Given the description of an element on the screen output the (x, y) to click on. 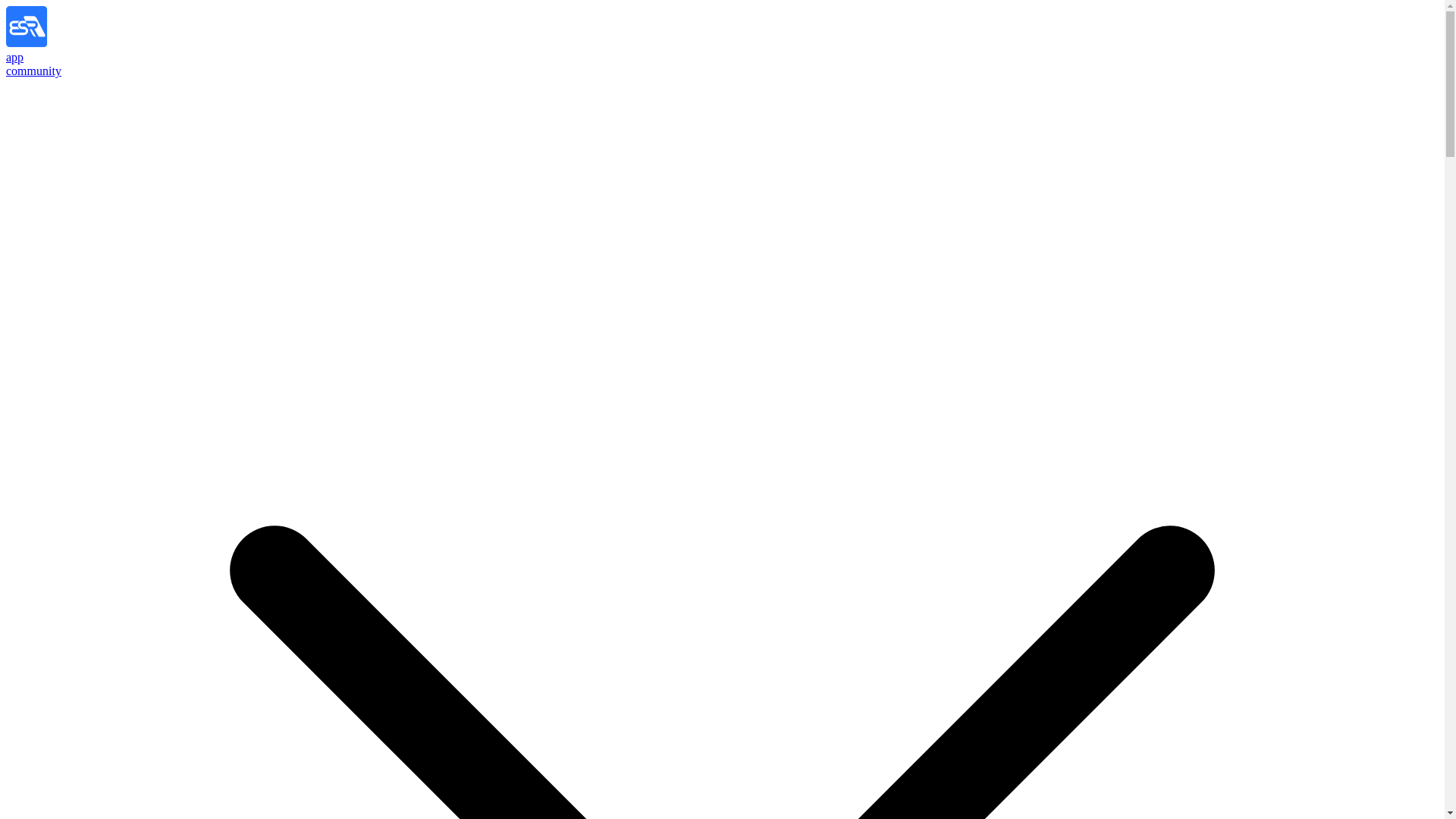
app (14, 56)
Eat Sleep Ride Home (52, 42)
community (33, 70)
